Given the description of an element on the screen output the (x, y) to click on. 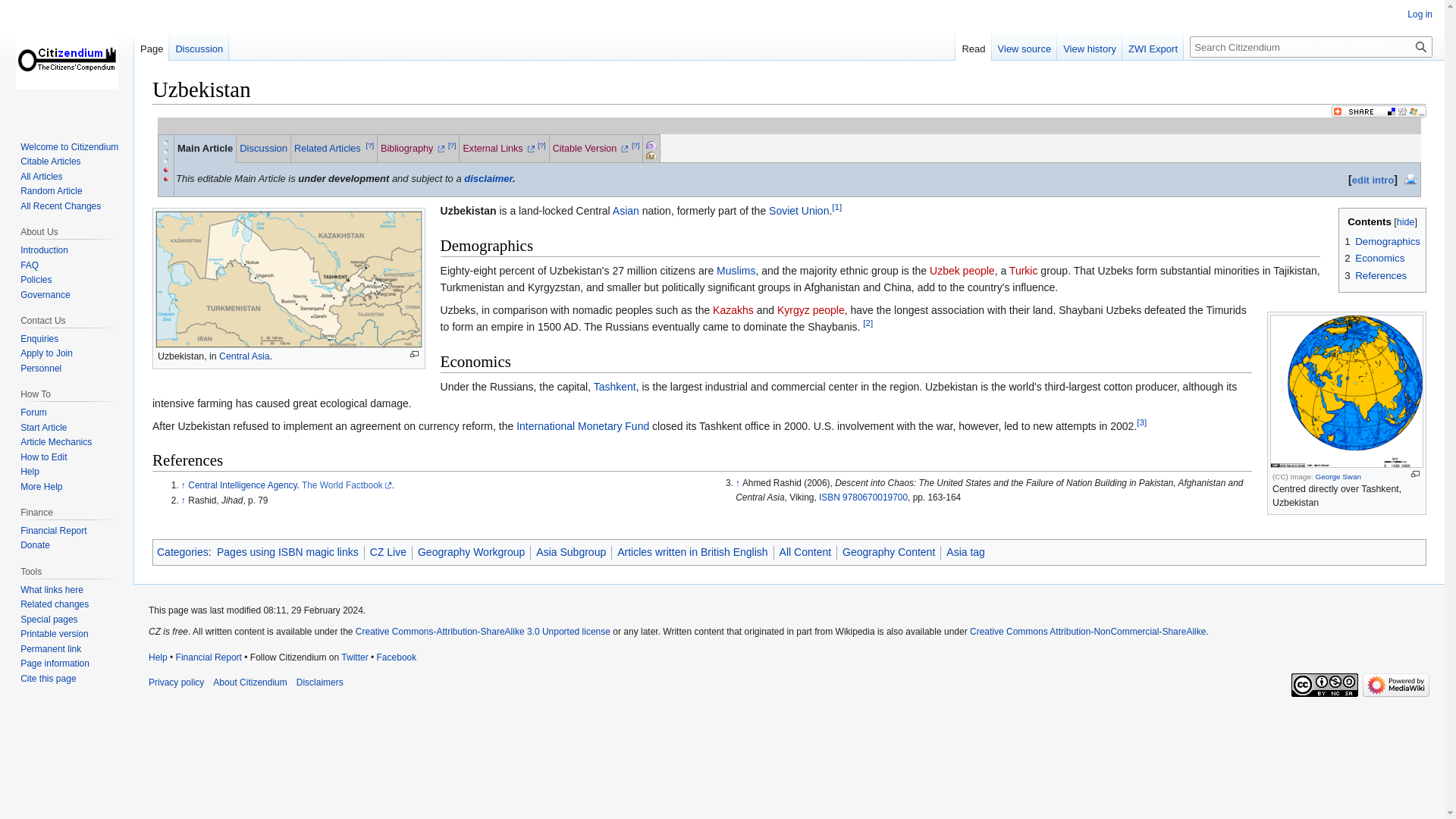
Talk:Uzbekistan (263, 147)
Central Asia (244, 356)
1 Demographics (1382, 241)
George Swan (1338, 476)
Soviet Union (798, 210)
Go To Page (1420, 46)
Bibliography (412, 148)
Citable Version (590, 148)
CZ:Subpages (666, 143)
CZ:Subpages (651, 145)
